Given the description of an element on the screen output the (x, y) to click on. 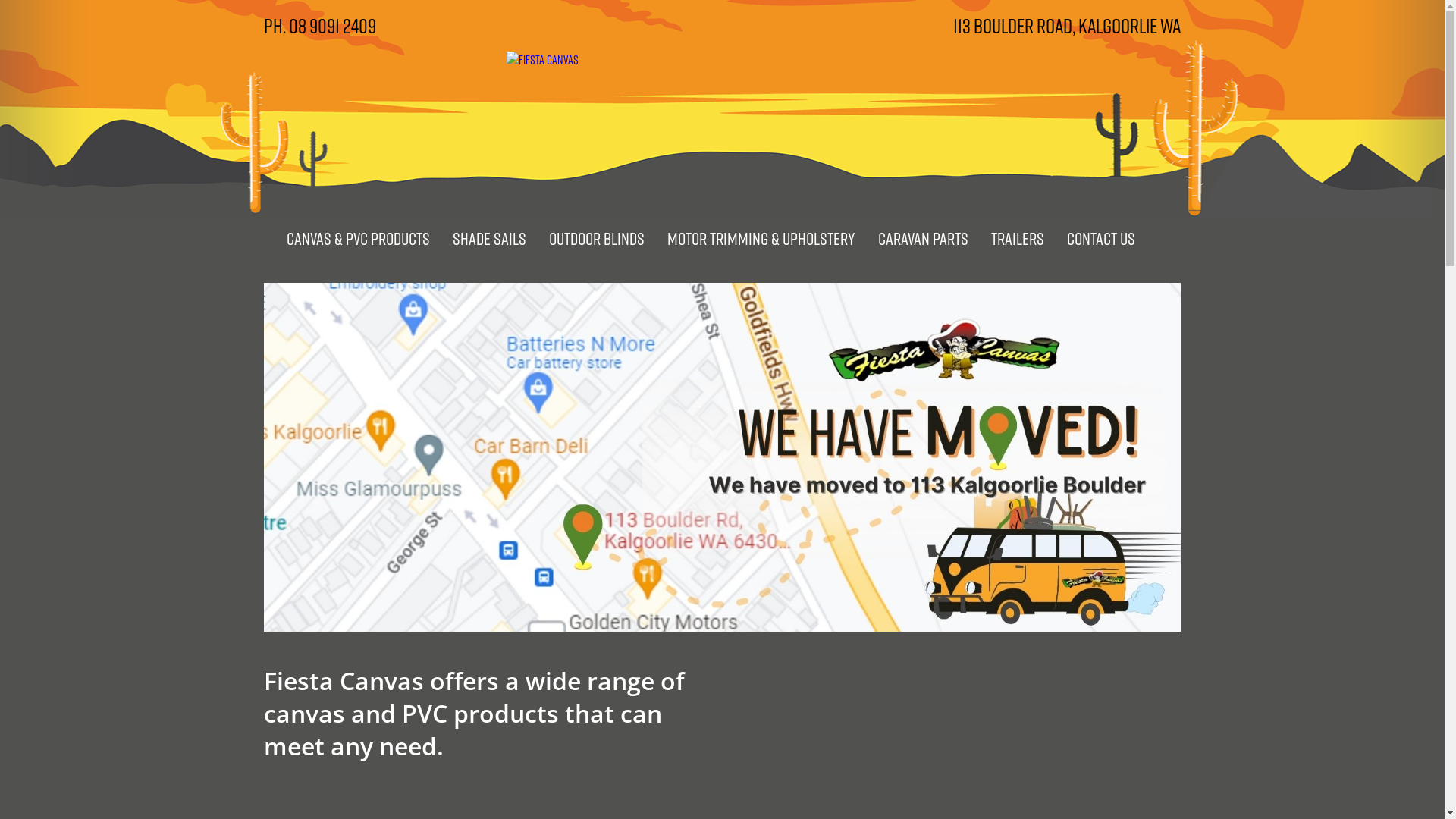
Contact Us Element type: text (1100, 238)
Shade Sails Element type: text (489, 238)
Caravan Parts Element type: text (922, 238)
Trailers Element type: text (1017, 238)
Outdoor Blinds Element type: text (595, 238)
Motor Trimming & Upholstery Element type: text (760, 238)
Canvas & PVC Products Element type: text (357, 238)
